Given the description of an element on the screen output the (x, y) to click on. 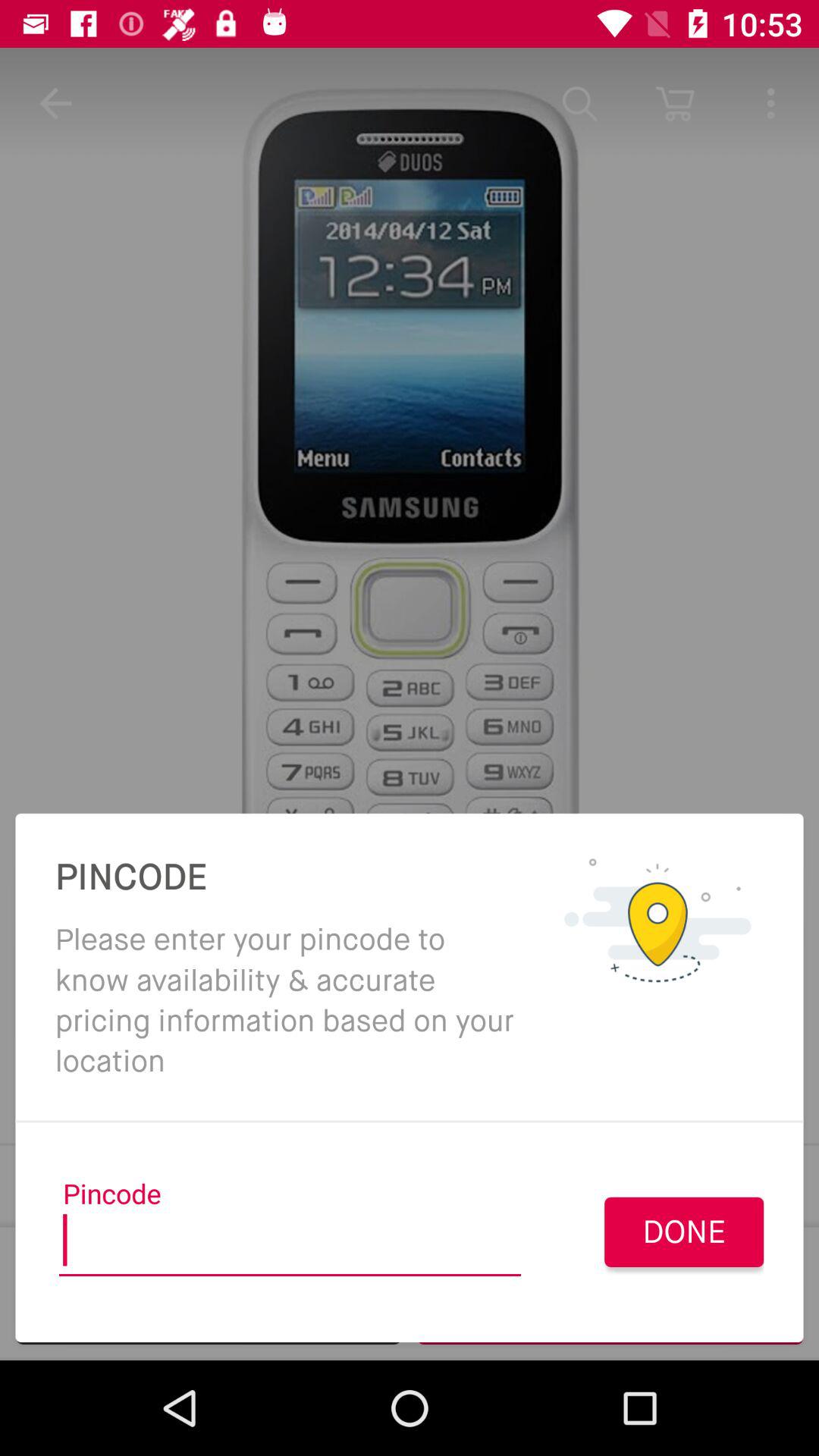
pincode enter (289, 1245)
